Given the description of an element on the screen output the (x, y) to click on. 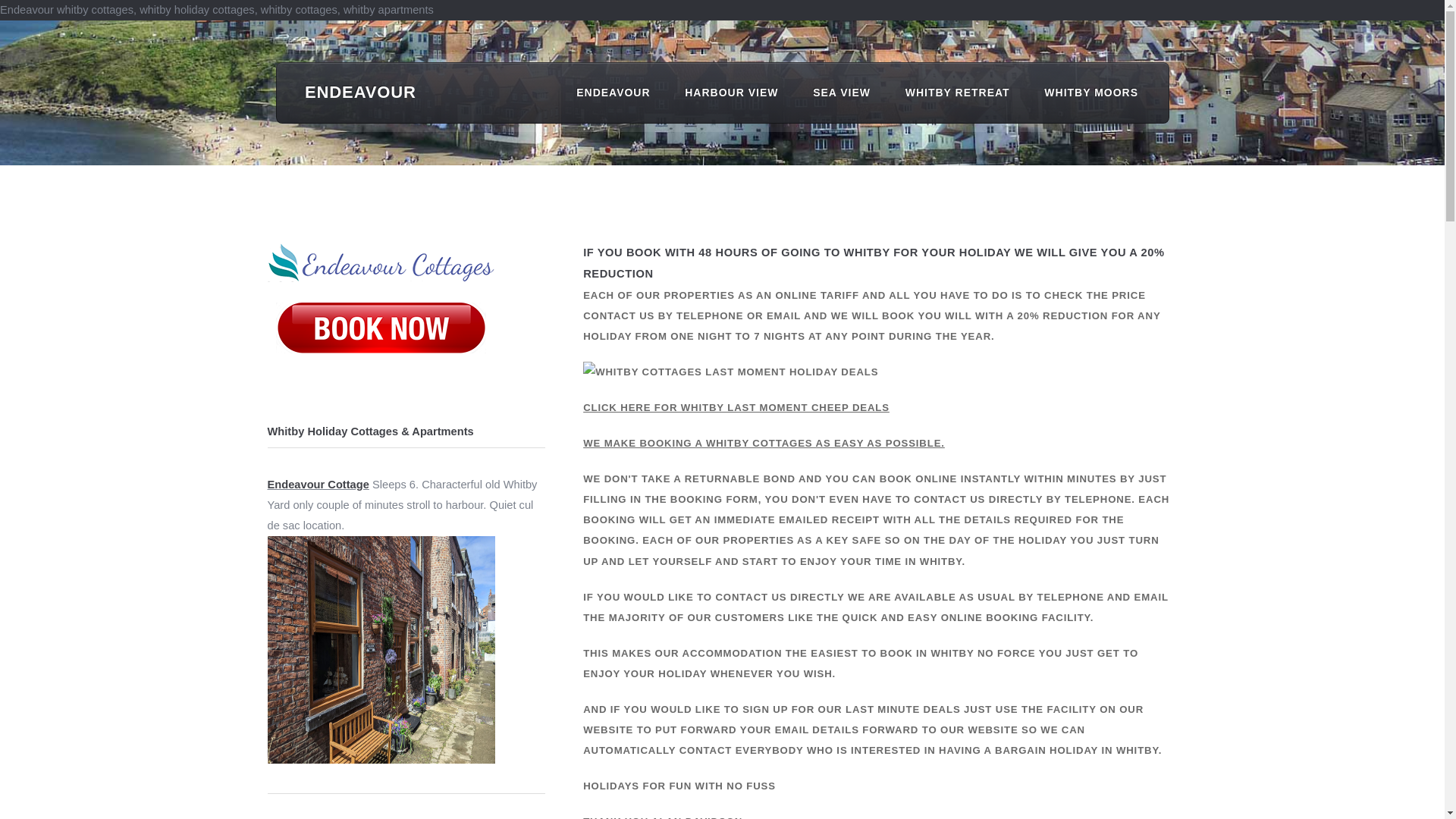
WHITBY MOORS (1091, 92)
ENDEAVOUR (613, 92)
SEA VIEW (842, 92)
Endeavour Cottage (317, 484)
WHITBY RETREAT (956, 92)
ENDEAVOUR (360, 91)
WE MAKE BOOKING A WHITBY COTTAGES AS EASY AS POSSIBLE. (763, 442)
HARBOUR VIEW (731, 92)
CLICK HERE FOR WHITBY LAST MOMENT CHEEP DEALS (736, 407)
